Given the description of an element on the screen output the (x, y) to click on. 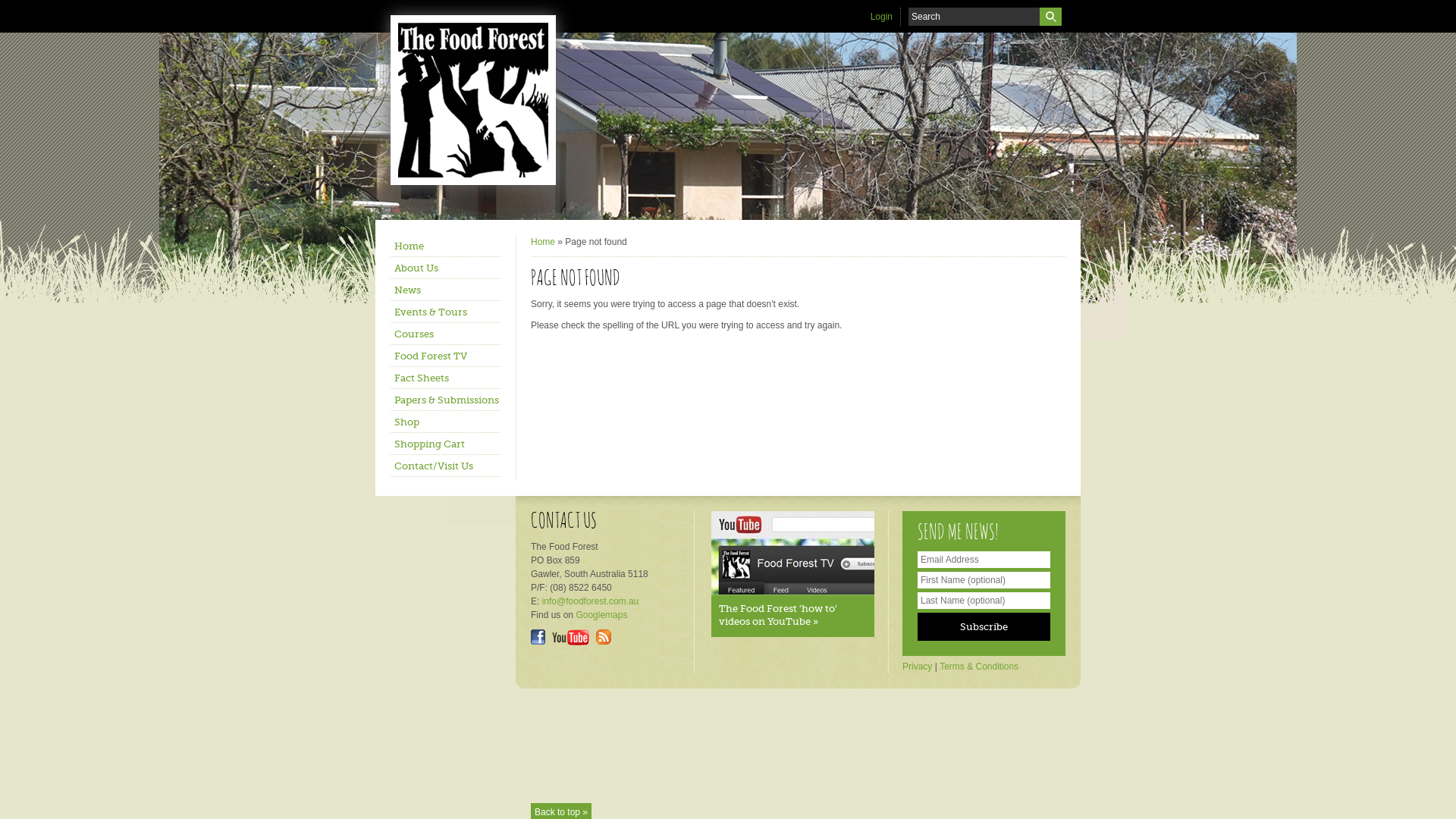
Search Element type: hover (1050, 16)
Search Element type: text (1050, 16)
Shopping Cart Element type: text (445, 444)
Contact/Visit Us Element type: text (445, 465)
Fact Sheets Element type: text (445, 378)
Login Element type: text (881, 16)
Subscribe Element type: text (983, 626)
Googlemaps Element type: text (601, 614)
Courses Element type: text (445, 334)
Events & Tours Element type: text (445, 312)
Home Element type: text (445, 246)
Privacy Element type: text (916, 666)
info@foodforest.com.au Element type: text (590, 601)
Shop Element type: text (445, 422)
Papers & Submissions Element type: text (445, 400)
Food Forest TV Element type: text (445, 356)
News Element type: text (445, 290)
The Food Forest Element type: text (485, 100)
Terms & Conditions Element type: text (978, 666)
About Us Element type: text (445, 268)
Home Element type: text (542, 241)
